Given the description of an element on the screen output the (x, y) to click on. 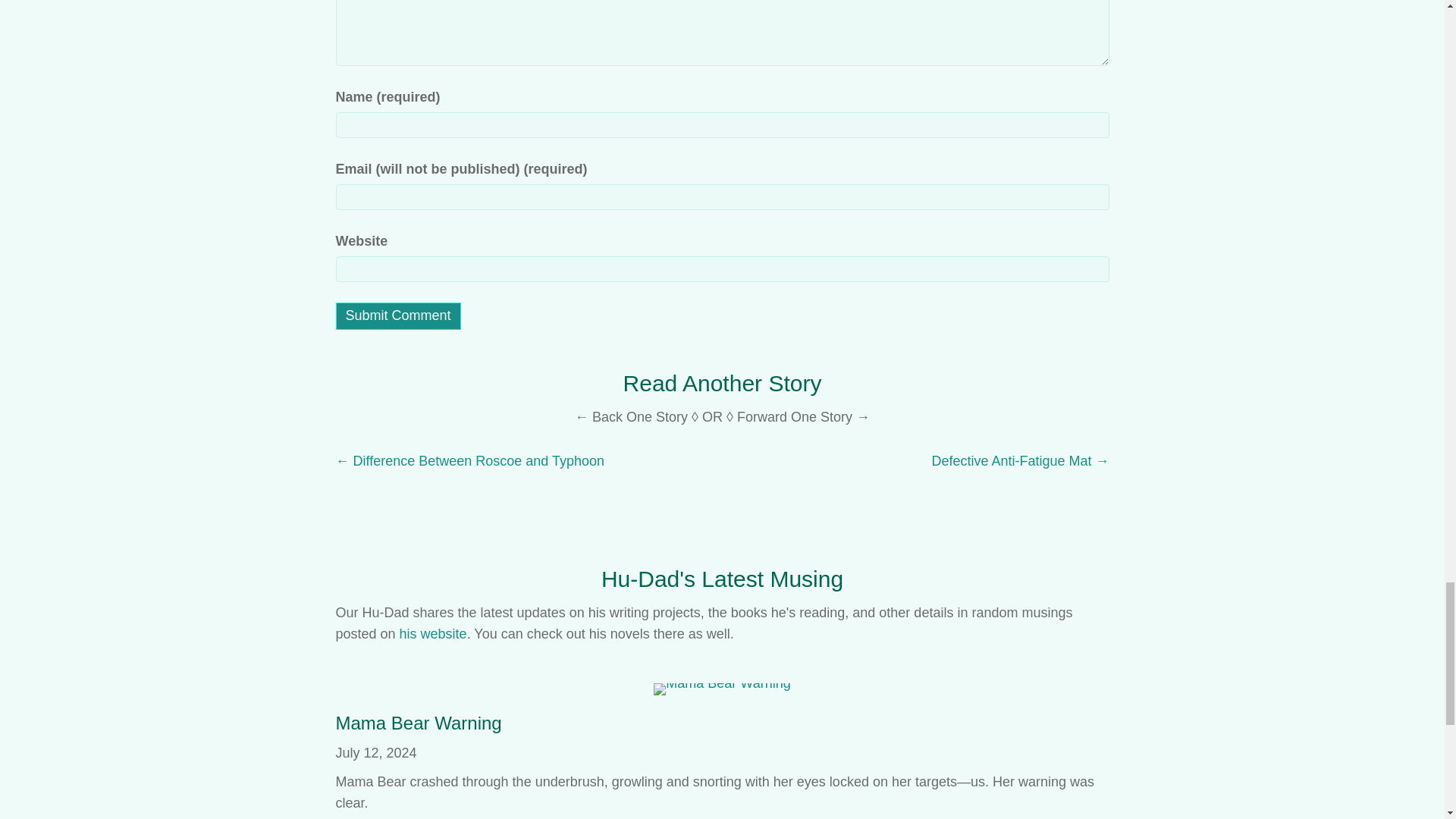
Submit Comment (397, 316)
Mama Bear Warning 191 1500 (721, 689)
his website (432, 633)
Mama Bear Warning (417, 722)
Submit Comment (397, 316)
